Given the description of an element on the screen output the (x, y) to click on. 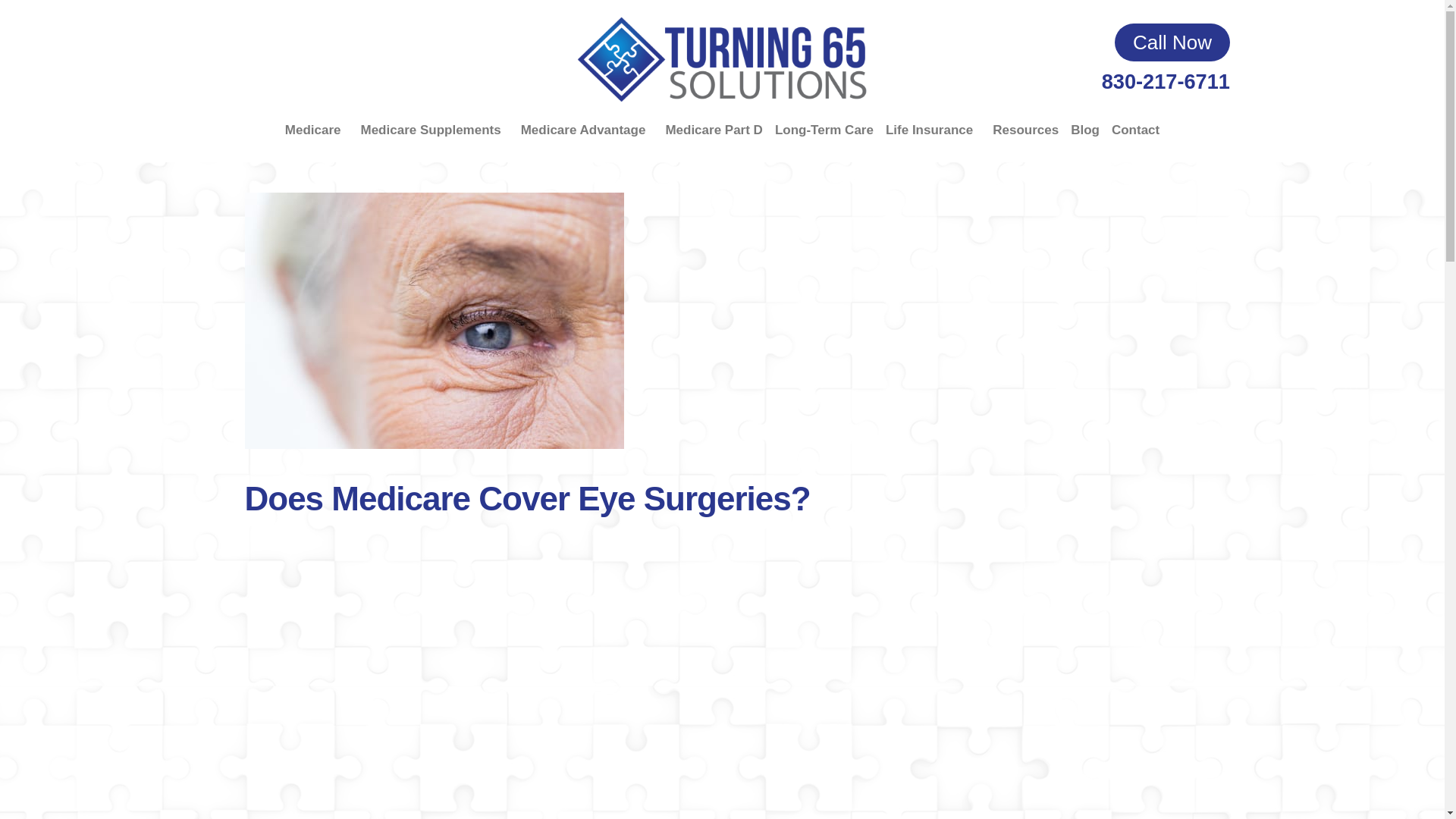
Life Insurance (932, 129)
Call Now (1172, 42)
Medicare Part D (714, 129)
Medicare Supplements (434, 129)
Medicare (317, 129)
830-217-6711 (1166, 81)
Medicare Advantage (587, 129)
Long-Term Care (823, 129)
